Given the description of an element on the screen output the (x, y) to click on. 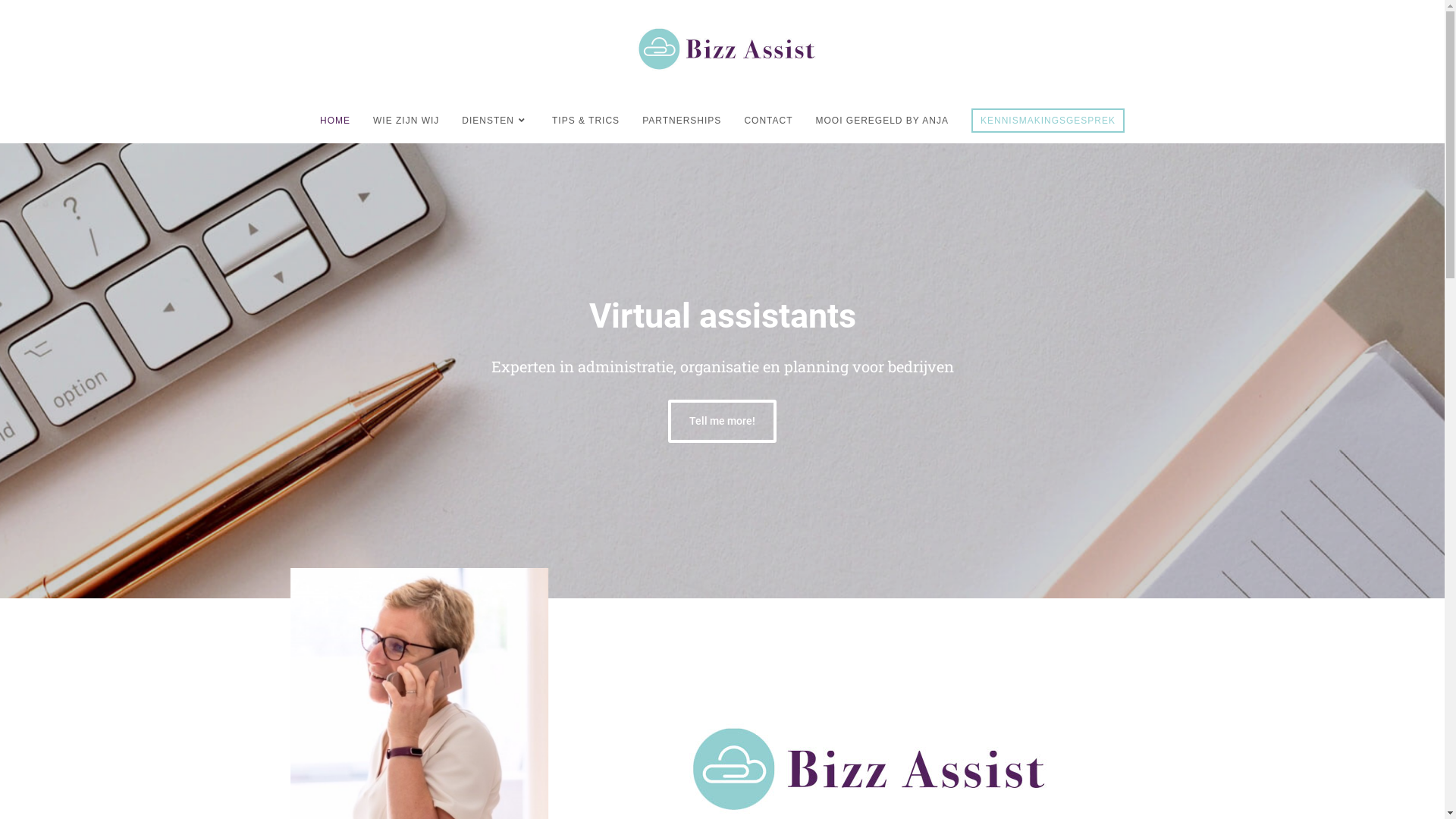
PARTNERSHIPS Element type: text (681, 120)
KENNISMAKINGSGESPREK Element type: text (1047, 120)
TIPS & TRICS Element type: text (585, 120)
MOOI GEREGELD BY ANJA Element type: text (881, 120)
WIE ZIJN WIJ Element type: text (405, 120)
CONTACT Element type: text (767, 120)
HOME Element type: text (334, 120)
DIENSTEN Element type: text (495, 120)
